Given the description of an element on the screen output the (x, y) to click on. 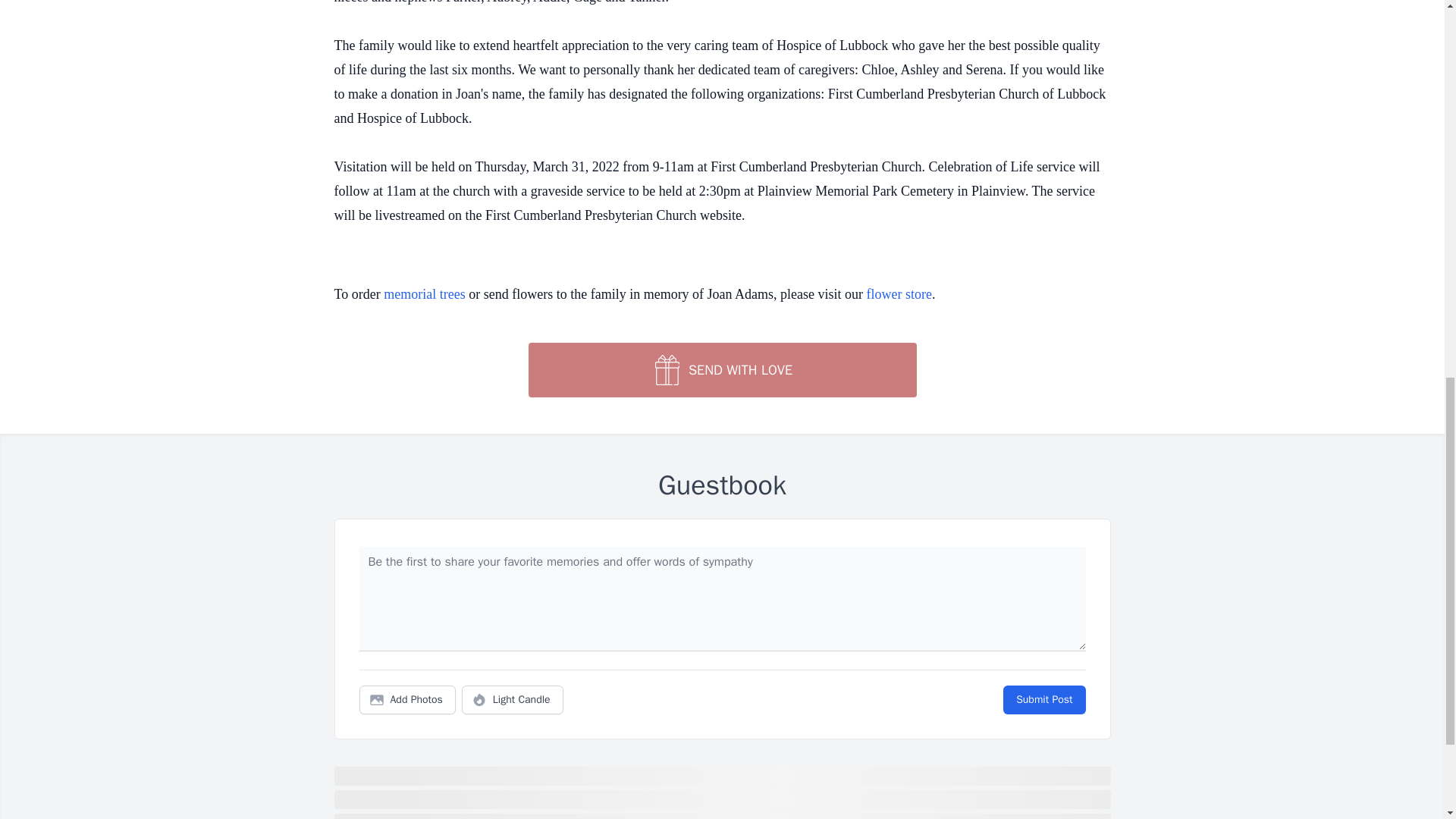
flower store (898, 294)
Light Candle (512, 699)
Add Photos (407, 699)
SEND WITH LOVE (721, 370)
Submit Post (1043, 699)
memorial trees (424, 294)
